Given the description of an element on the screen output the (x, y) to click on. 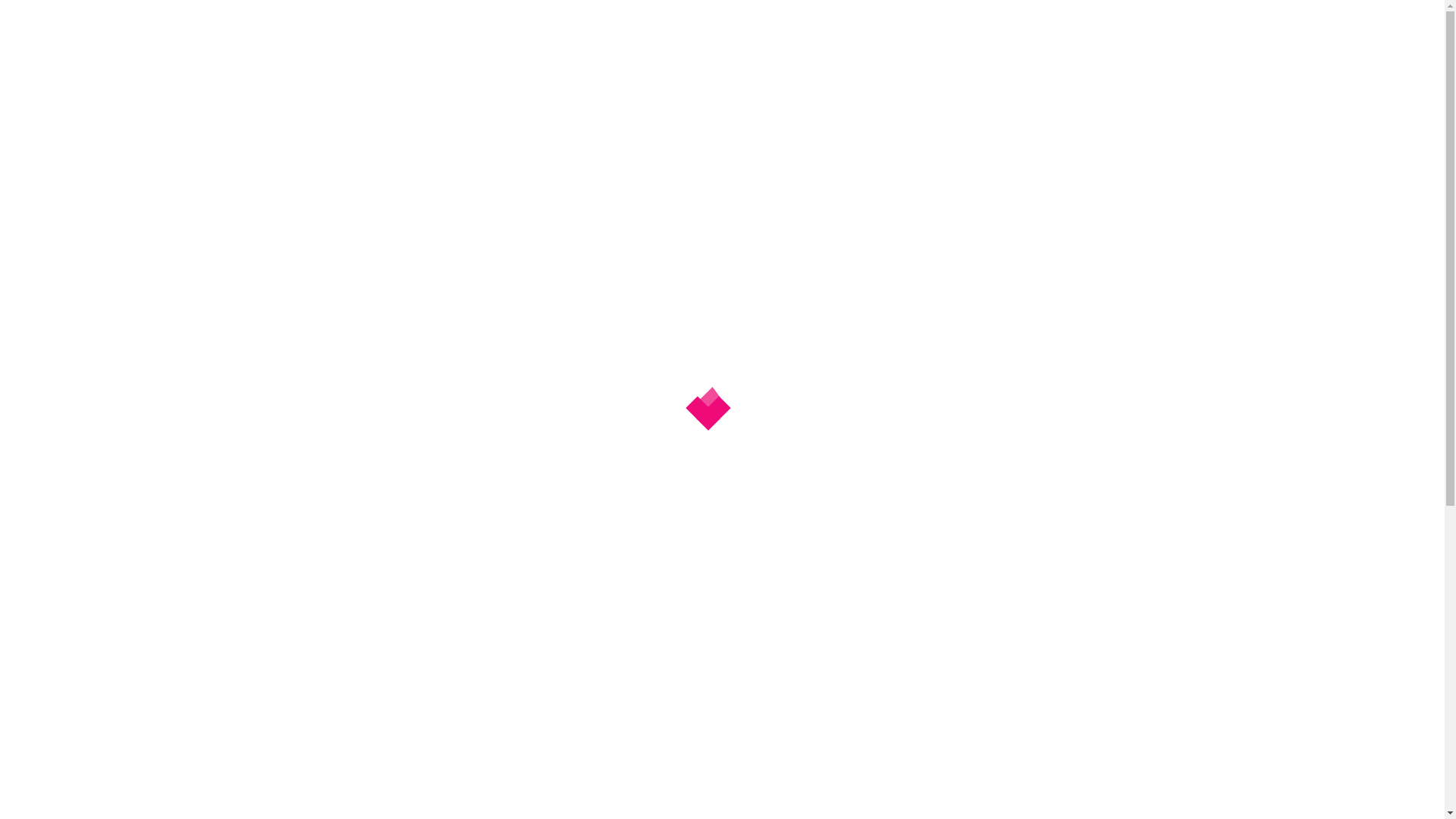
Orthotics Element type: text (795, 188)
Swift Wart Treatment Element type: text (991, 188)
FAQs Element type: text (729, 188)
Home Element type: text (385, 188)
9560 9599 Element type: text (1296, 82)
Book now Element type: text (1307, 27)
Book now Element type: text (1307, 42)
About us Element type: text (452, 188)
Contact us Element type: text (876, 188)
Conditions we treat Element type: text (635, 188)
Our team Element type: text (528, 188)
